Given the description of an element on the screen output the (x, y) to click on. 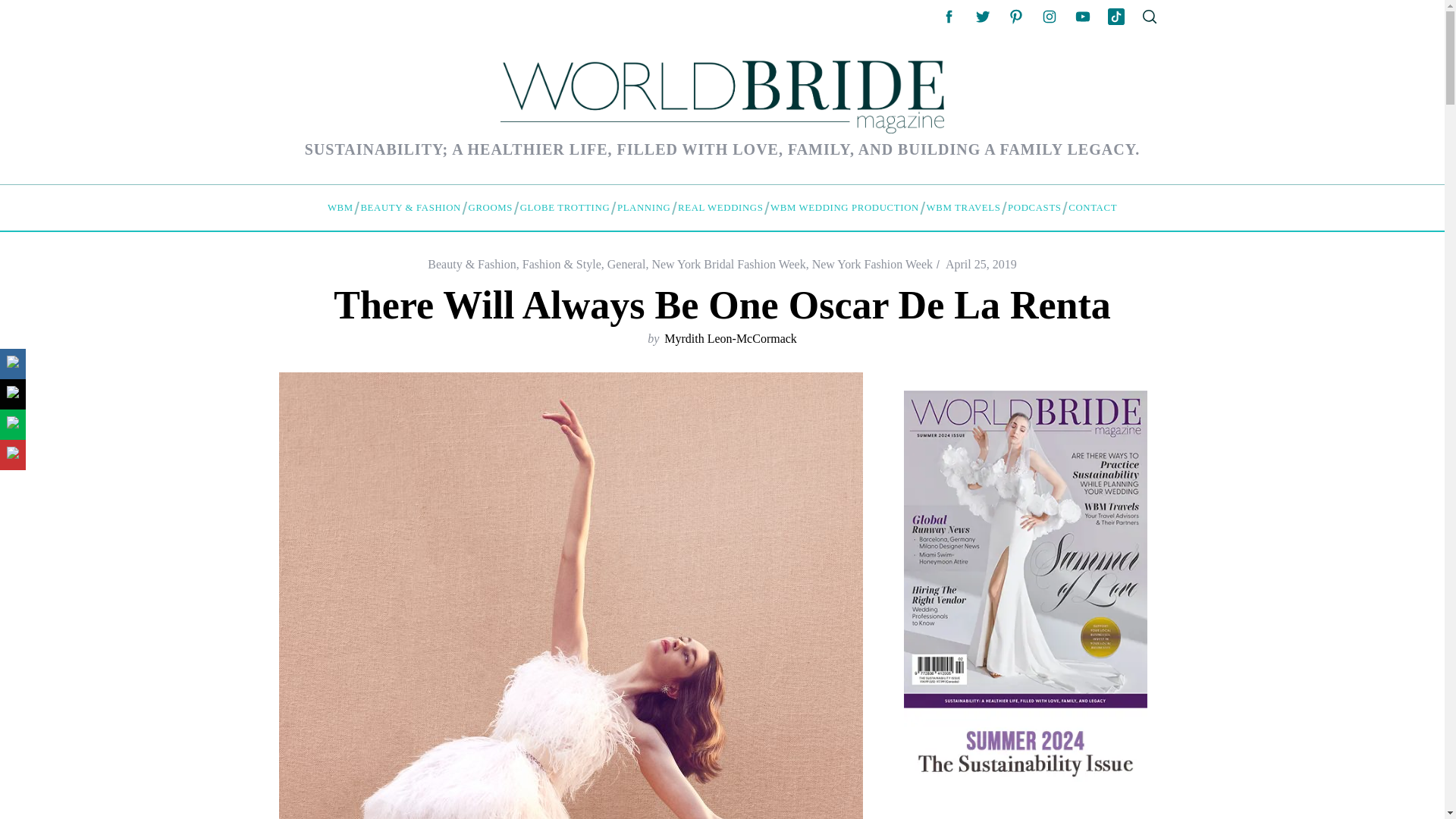
GLOBE TROTTING (564, 207)
PLANNING (643, 207)
GROOMS (490, 207)
